Given the description of an element on the screen output the (x, y) to click on. 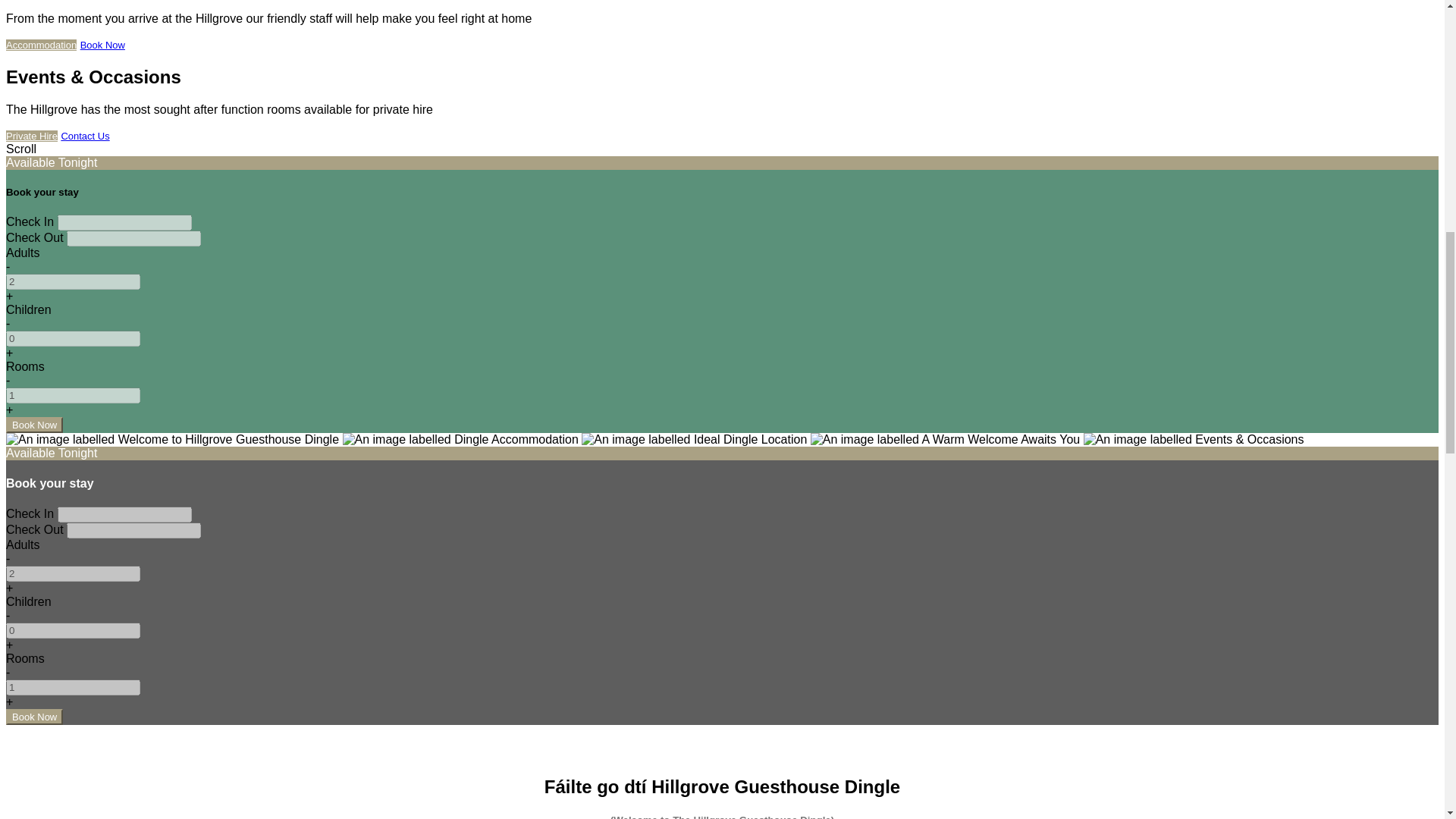
Available Tonight (51, 452)
2 (72, 281)
Book Now (33, 716)
1 (72, 395)
1 (72, 687)
Book Now (33, 424)
2 (72, 573)
0 (72, 630)
0 (72, 338)
